Given the description of an element on the screen output the (x, y) to click on. 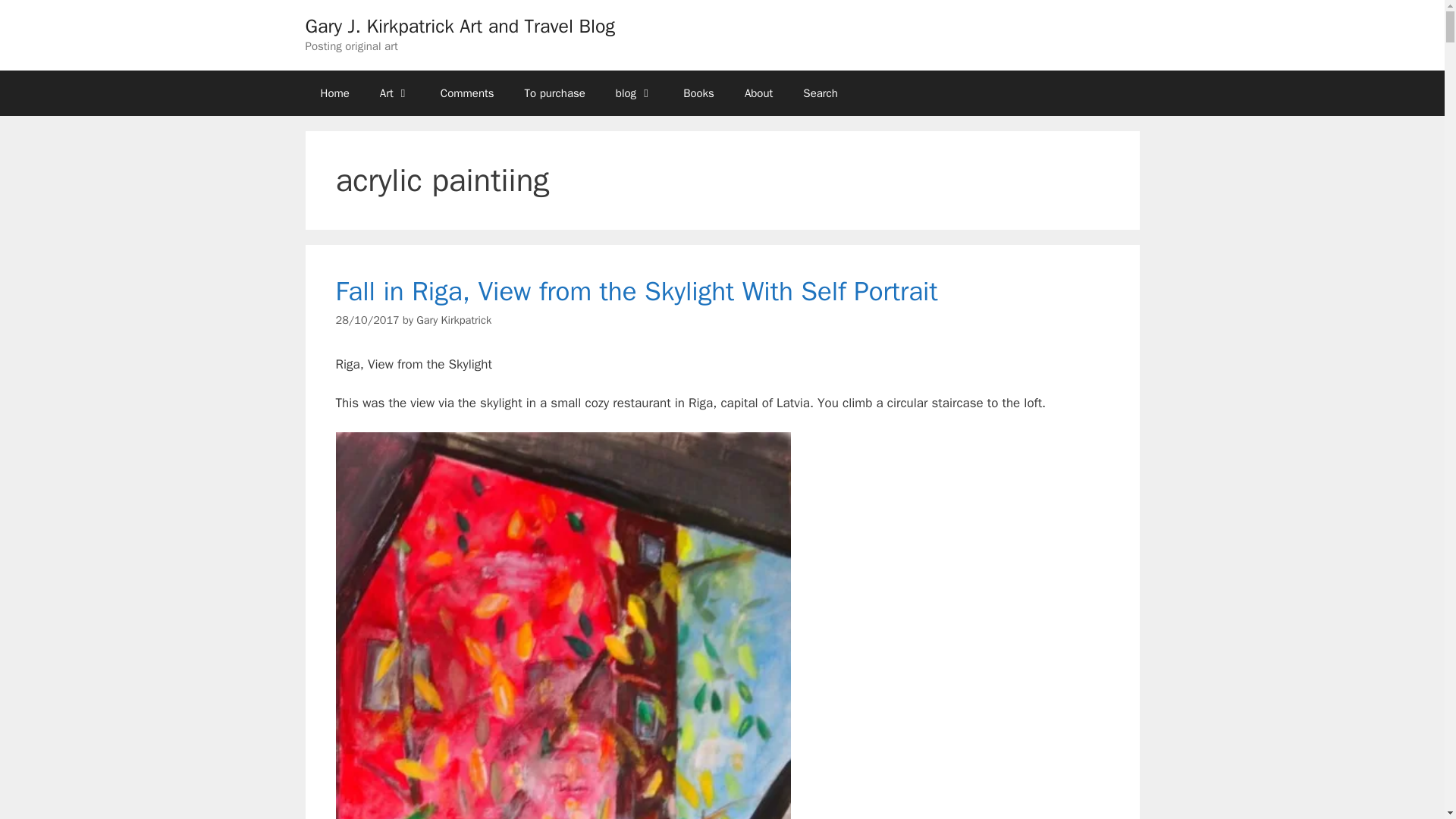
Home (334, 92)
blog (633, 92)
Art (395, 92)
To purchase (554, 92)
Gary J. Kirkpatrick Art and Travel Blog (459, 25)
Comments (467, 92)
View all posts by Gary Kirkpatrick (454, 319)
